Given the description of an element on the screen output the (x, y) to click on. 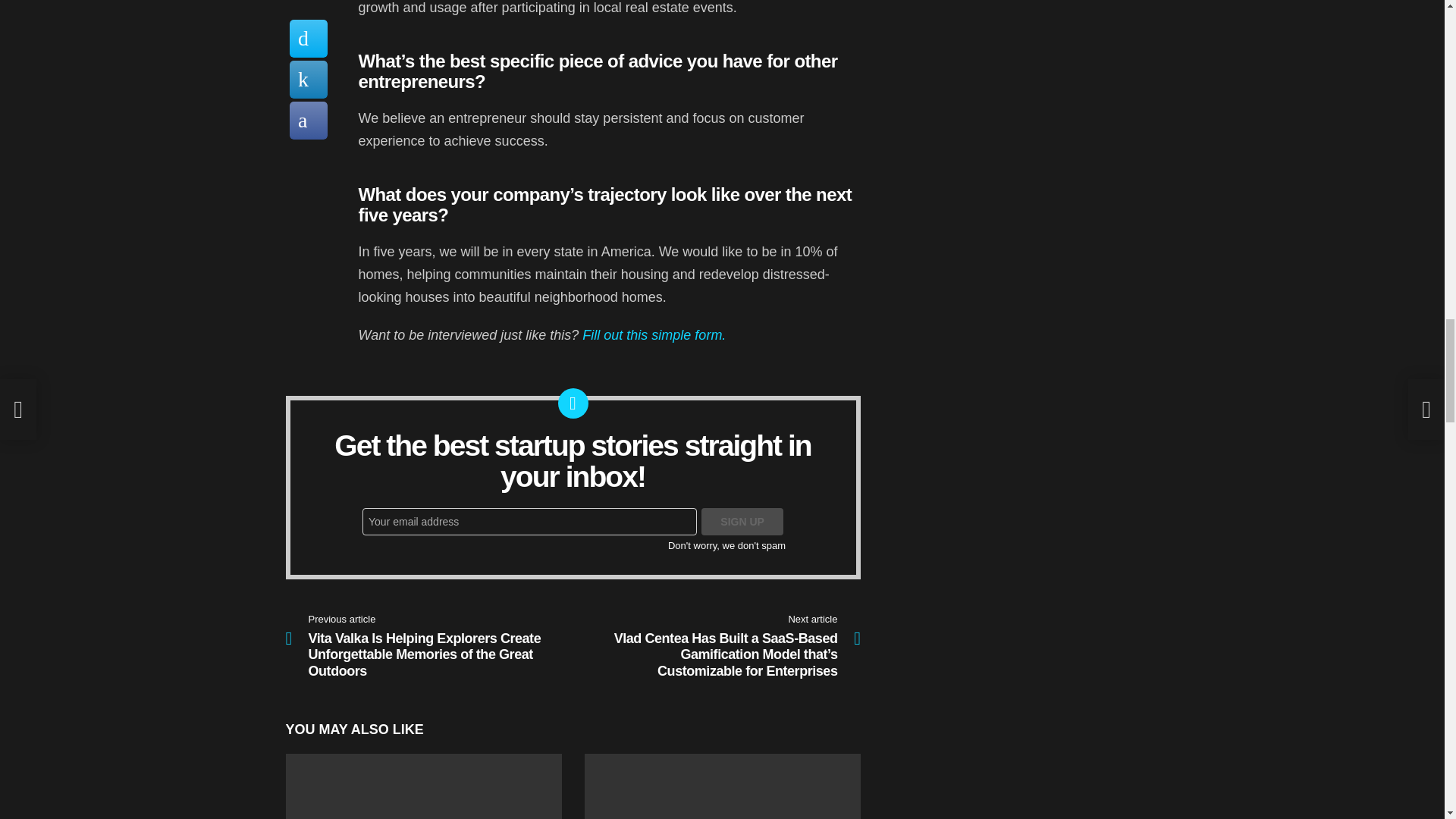
Sign up (742, 521)
Fill out this simple form. (653, 335)
Sign up (742, 521)
